Given the description of an element on the screen output the (x, y) to click on. 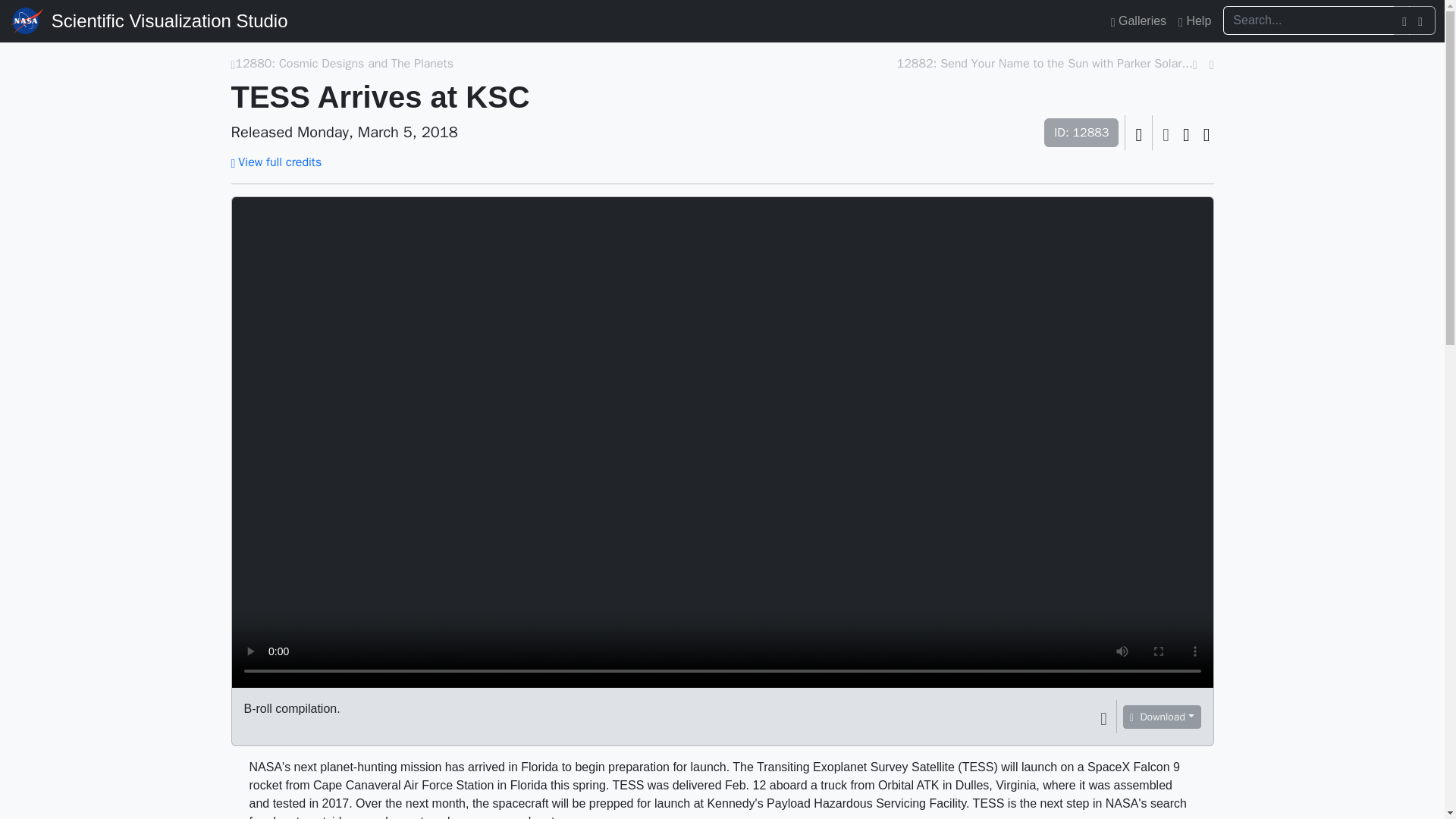
Download (1160, 716)
Help (1194, 20)
12880: Cosmic Designs and The Planets (343, 63)
Search! (1422, 20)
View full credits (275, 162)
Galleries (1138, 20)
12882: Send Your Name to the Sun with Parker Solar... (1044, 63)
Scientific Visualization Studio (169, 21)
